Given the description of an element on the screen output the (x, y) to click on. 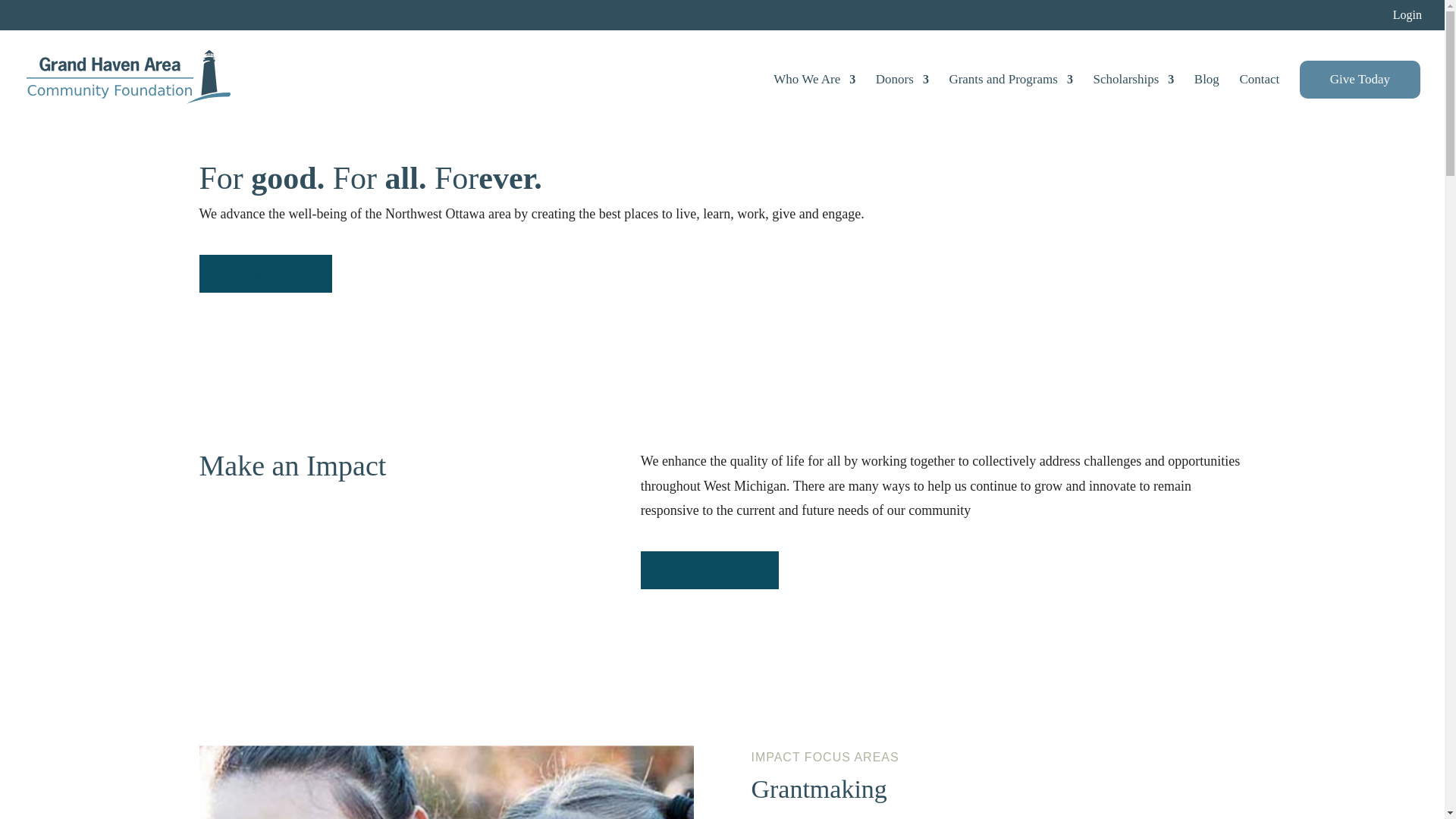
young-mom-with-daughter (445, 782)
Login (1407, 19)
Grants and Programs (1011, 102)
Who We Are (814, 102)
Scholarships (1133, 102)
Donors (902, 102)
